Given the description of an element on the screen output the (x, y) to click on. 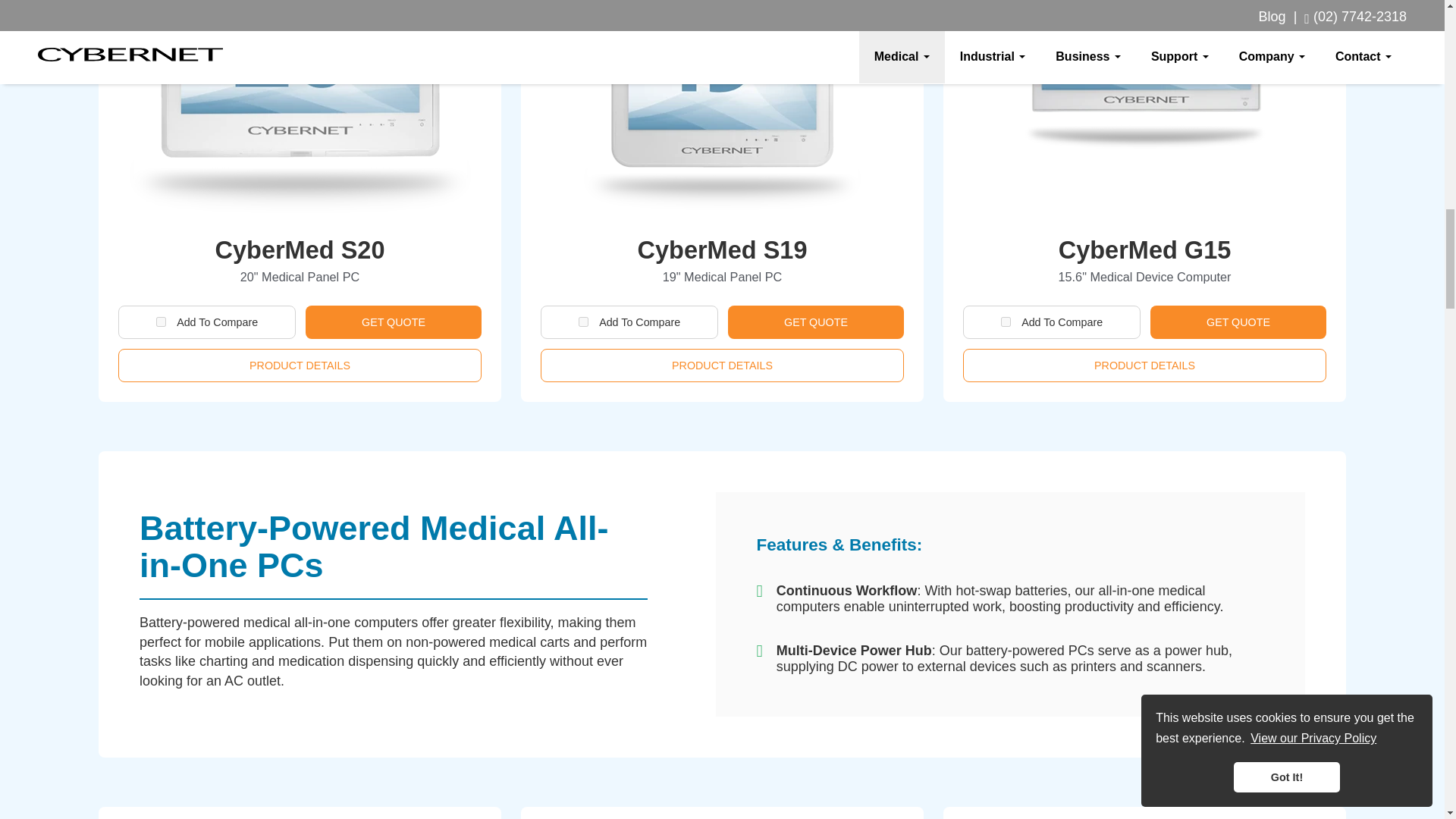
257 (160, 321)
255 (583, 321)
304 (1005, 321)
